Given the description of an element on the screen output the (x, y) to click on. 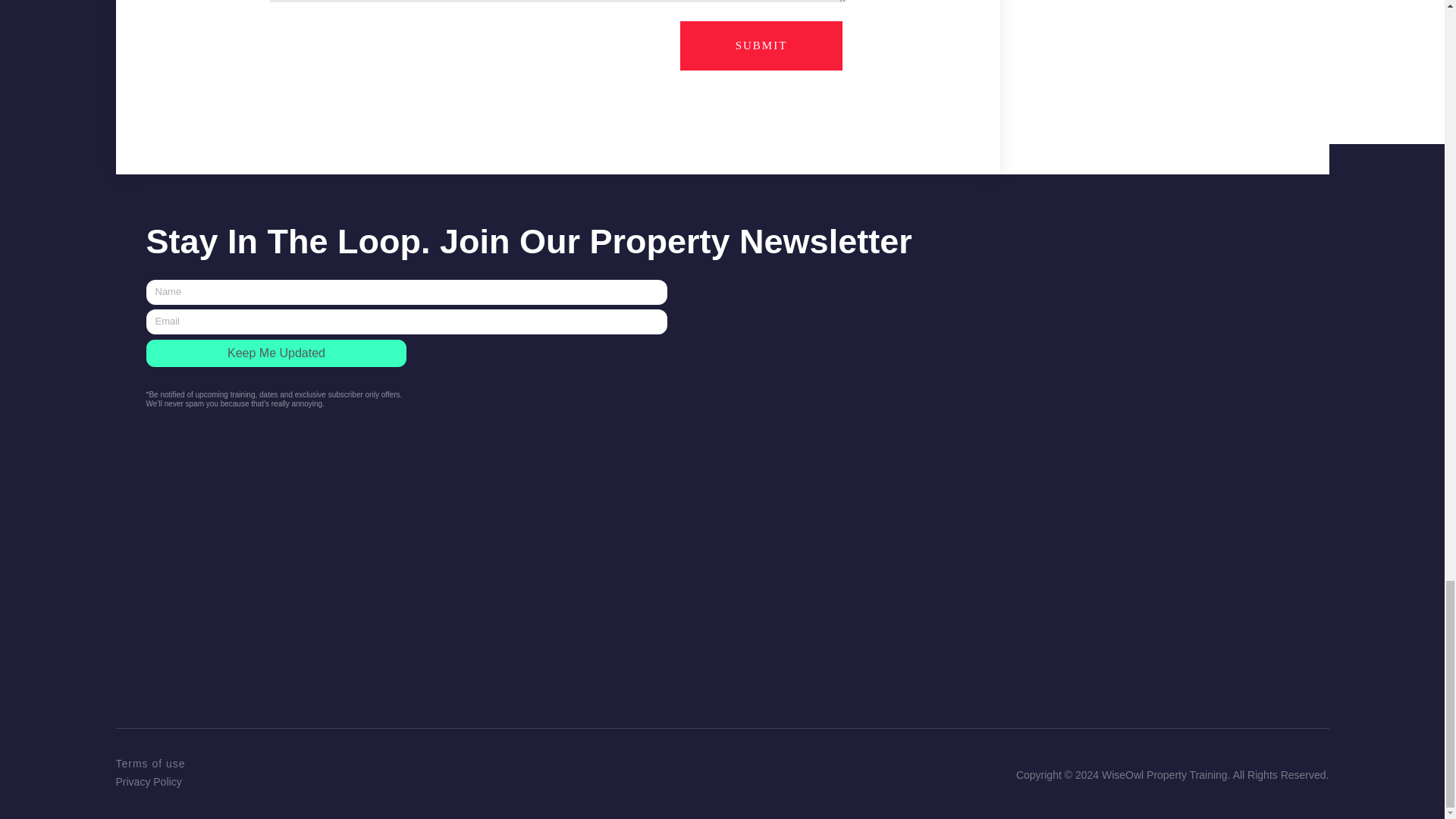
Submit (761, 45)
Keep Me Updated (275, 352)
Submit (761, 45)
